Given the description of an element on the screen output the (x, y) to click on. 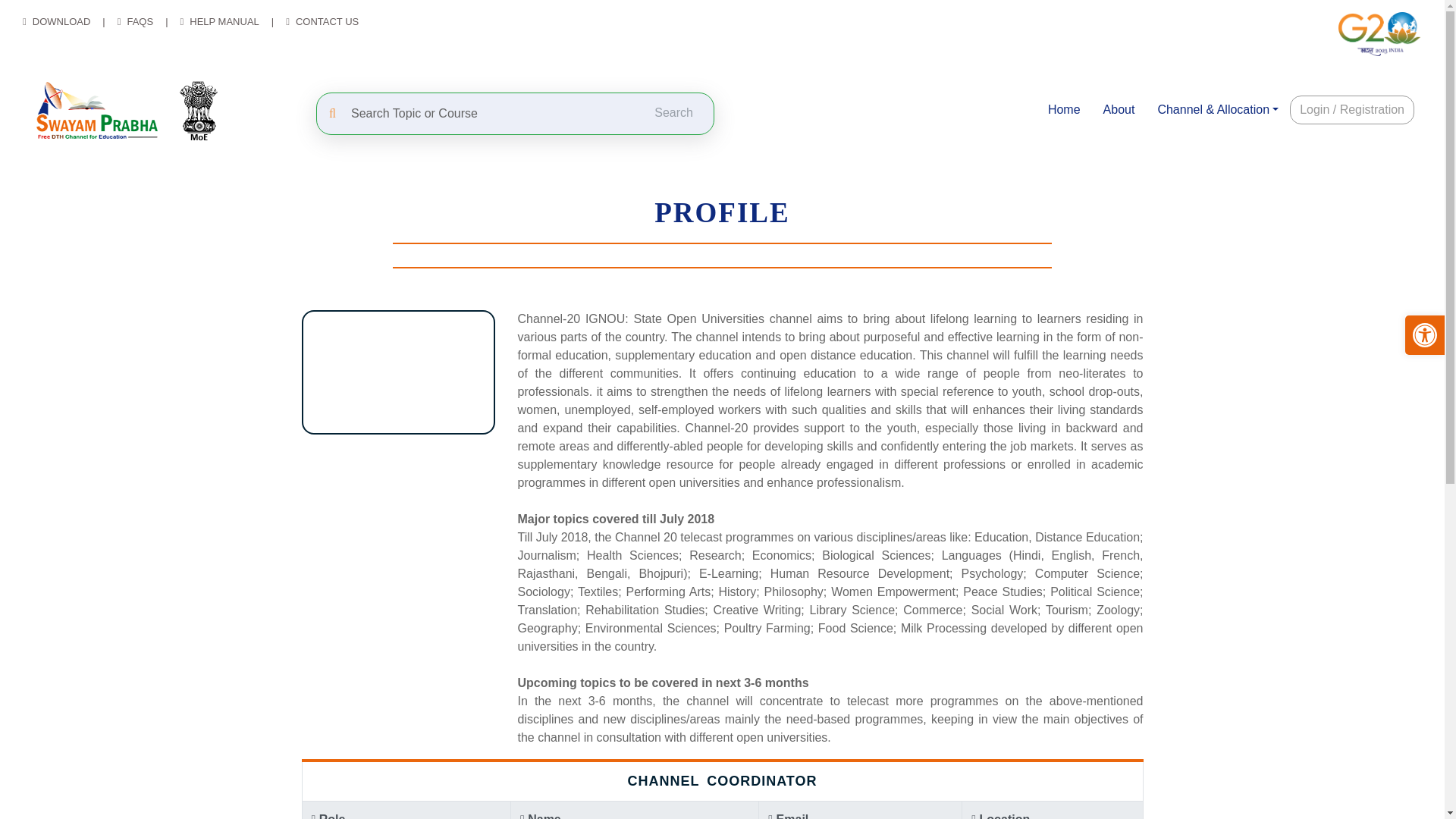
CONTACT US (326, 21)
DOWNLOAD (61, 21)
FAQS (139, 21)
HELP MANUAL (224, 21)
Search (674, 112)
